Given the description of an element on the screen output the (x, y) to click on. 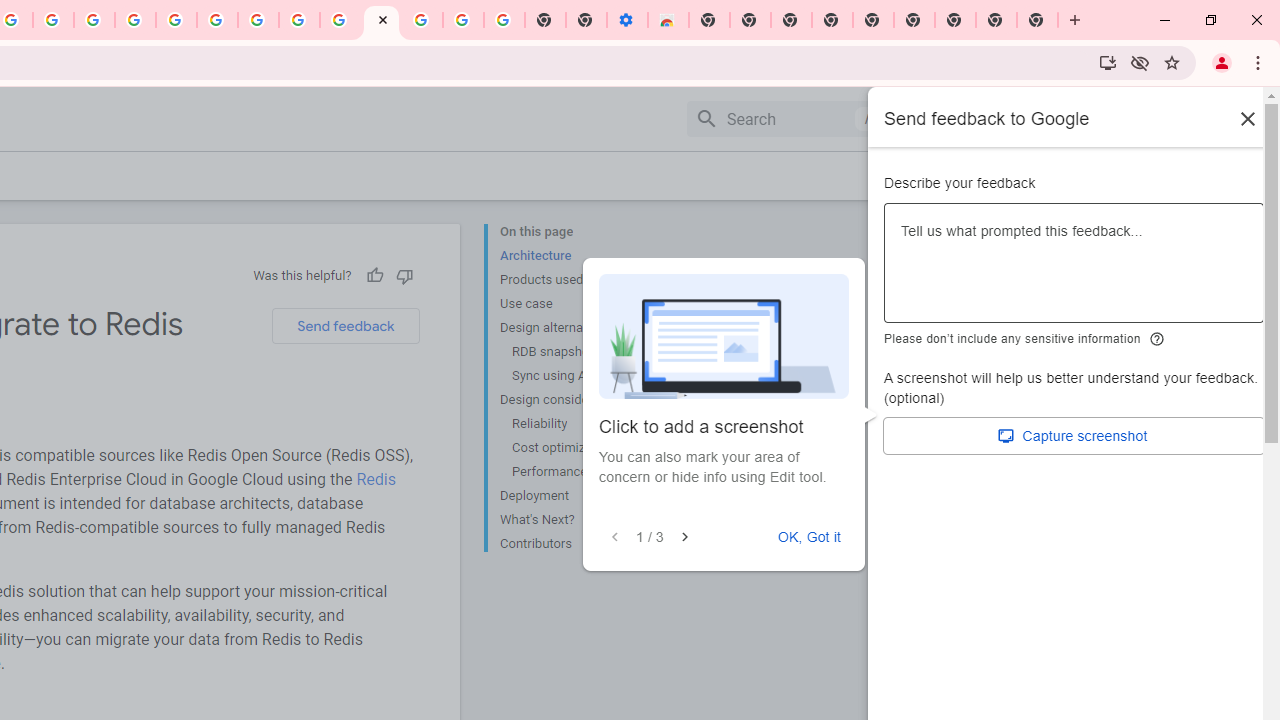
Support (1000, 119)
Install Google Cloud (1107, 62)
Capture screenshot (1074, 436)
English (1110, 118)
Create your Google Account (299, 20)
Helpful (374, 275)
Sign in (1216, 118)
Chrome Web Store - Accessibility extensions (667, 20)
Settings - Accessibility (626, 20)
Google Account Help (462, 20)
